Given the description of an element on the screen output the (x, y) to click on. 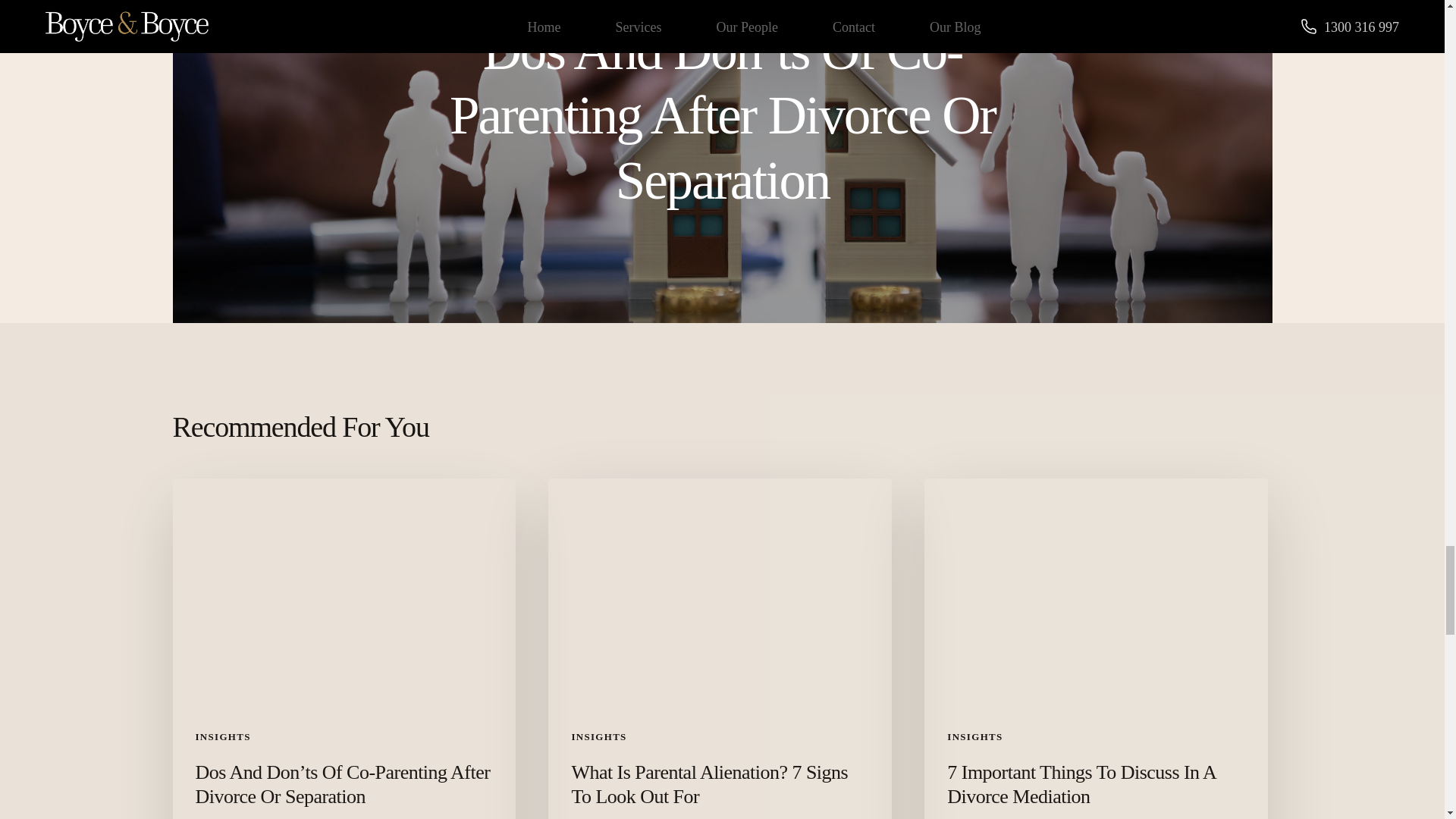
INSIGHTS (975, 736)
INSIGHTS (598, 736)
INSIGHTS (222, 736)
